Given the description of an element on the screen output the (x, y) to click on. 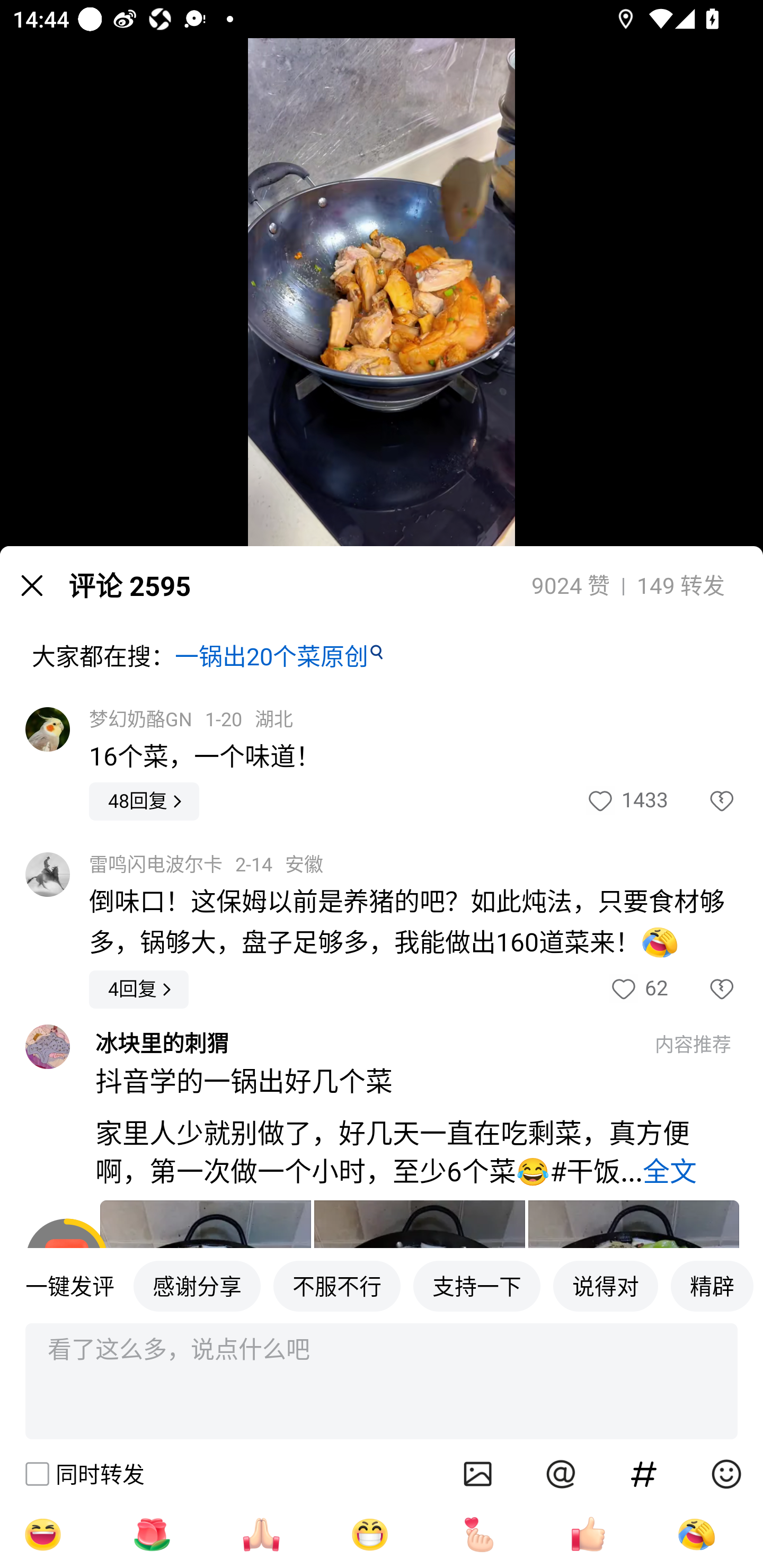
感谢分享 (196, 1285)
不服不行 (336, 1285)
支持一下 (476, 1285)
说得对 (605, 1285)
精辟 (711, 1285)
 看了这么多，说点什么吧 (381, 1381)
同时转发 (83, 1473)
相册 (478, 1473)
at (560, 1473)
话题 (643, 1473)
表情 (726, 1473)
[大笑] (42, 1534)
[玫瑰] (152, 1534)
[祈祷] (261, 1534)
[呲牙] (369, 1534)
[比心] (478, 1534)
[赞] (588, 1534)
[捂脸] (696, 1534)
